Given the description of an element on the screen output the (x, y) to click on. 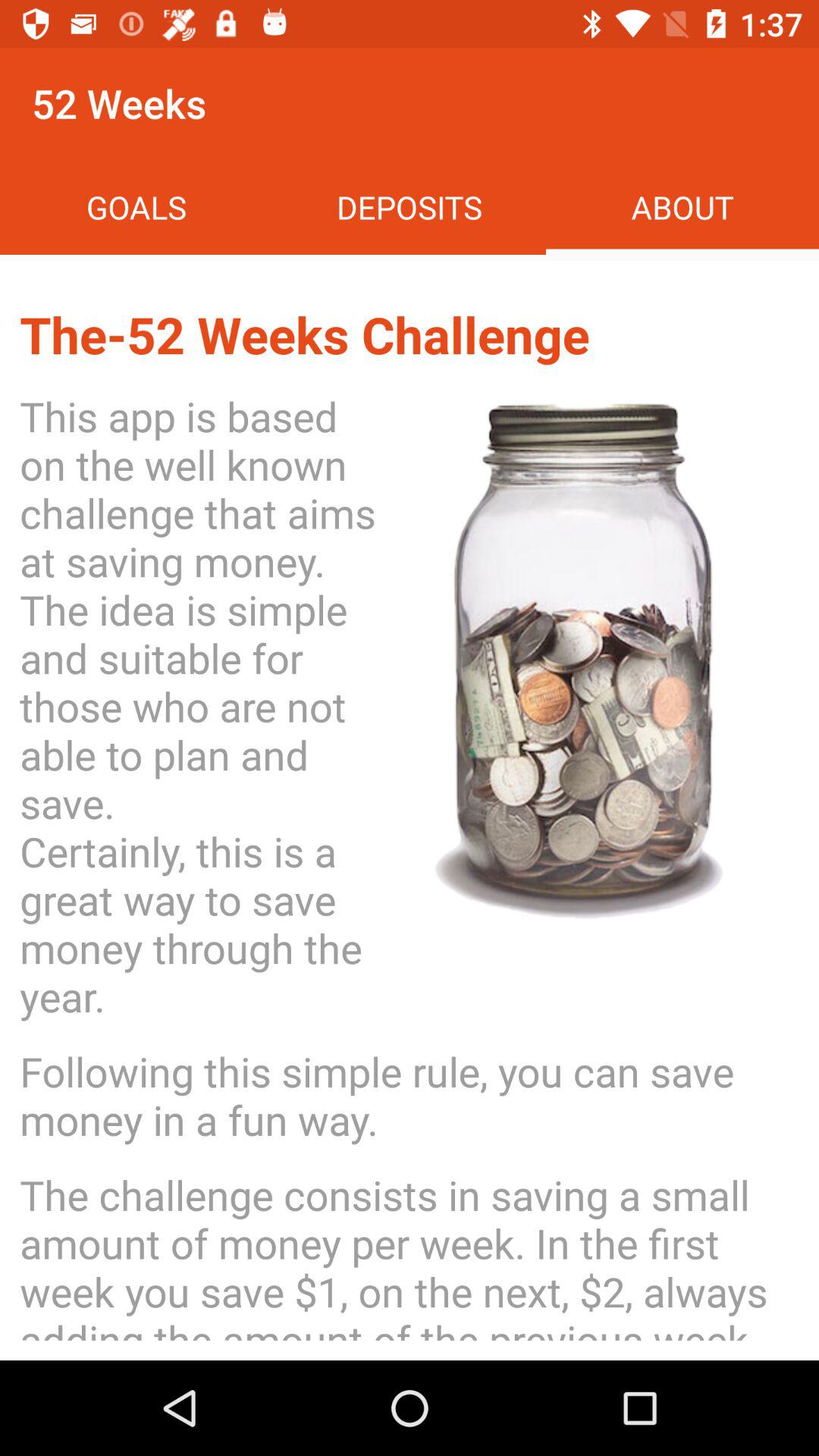
press the app below the 52 weeks item (136, 206)
